Given the description of an element on the screen output the (x, y) to click on. 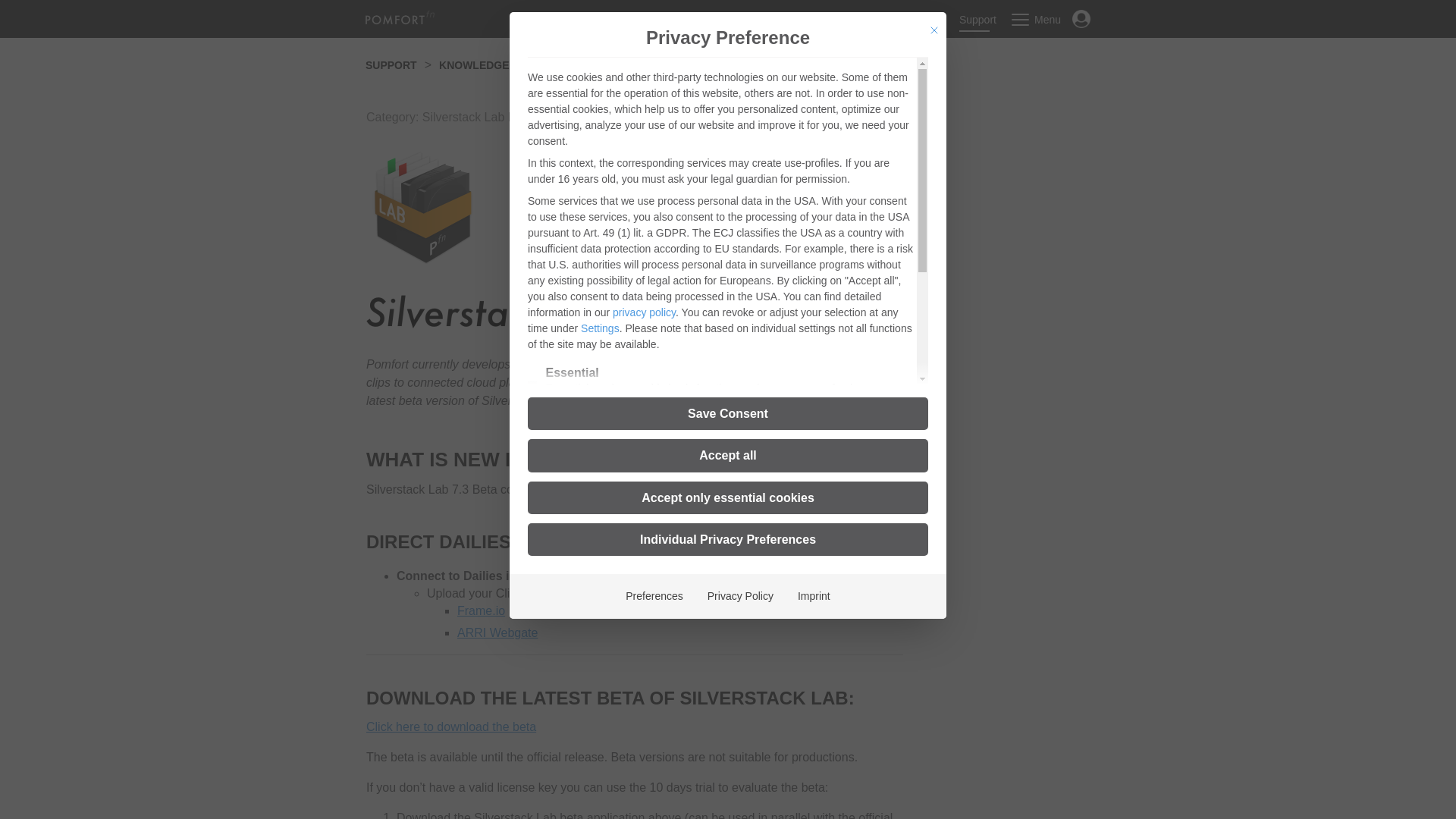
  Menu (1036, 19)
